Given the description of an element on the screen output the (x, y) to click on. 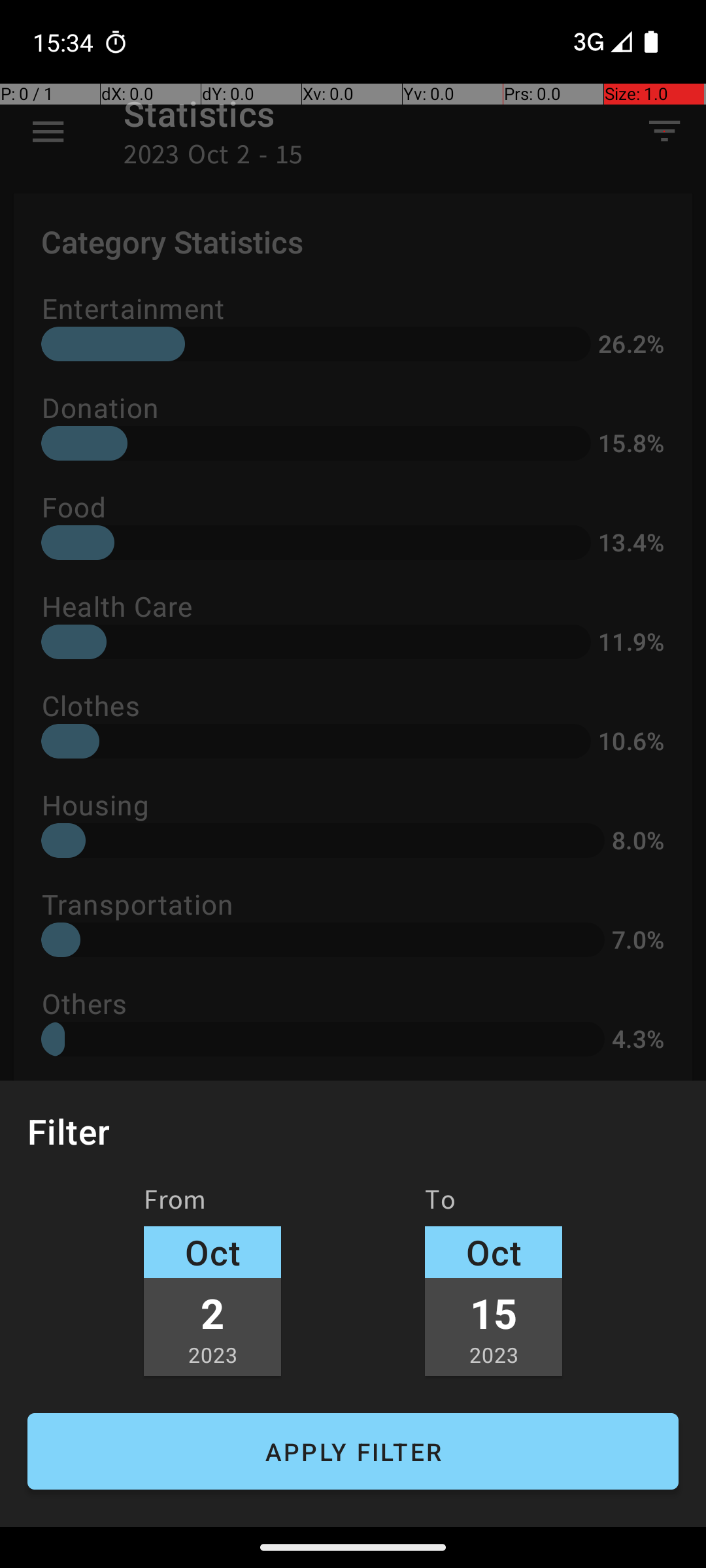
From Element type: android.widget.TextView (174, 1203)
To Element type: android.widget.TextView (439, 1203)
APPLY FILTER Element type: android.widget.Button (352, 1451)
